Given the description of an element on the screen output the (x, y) to click on. 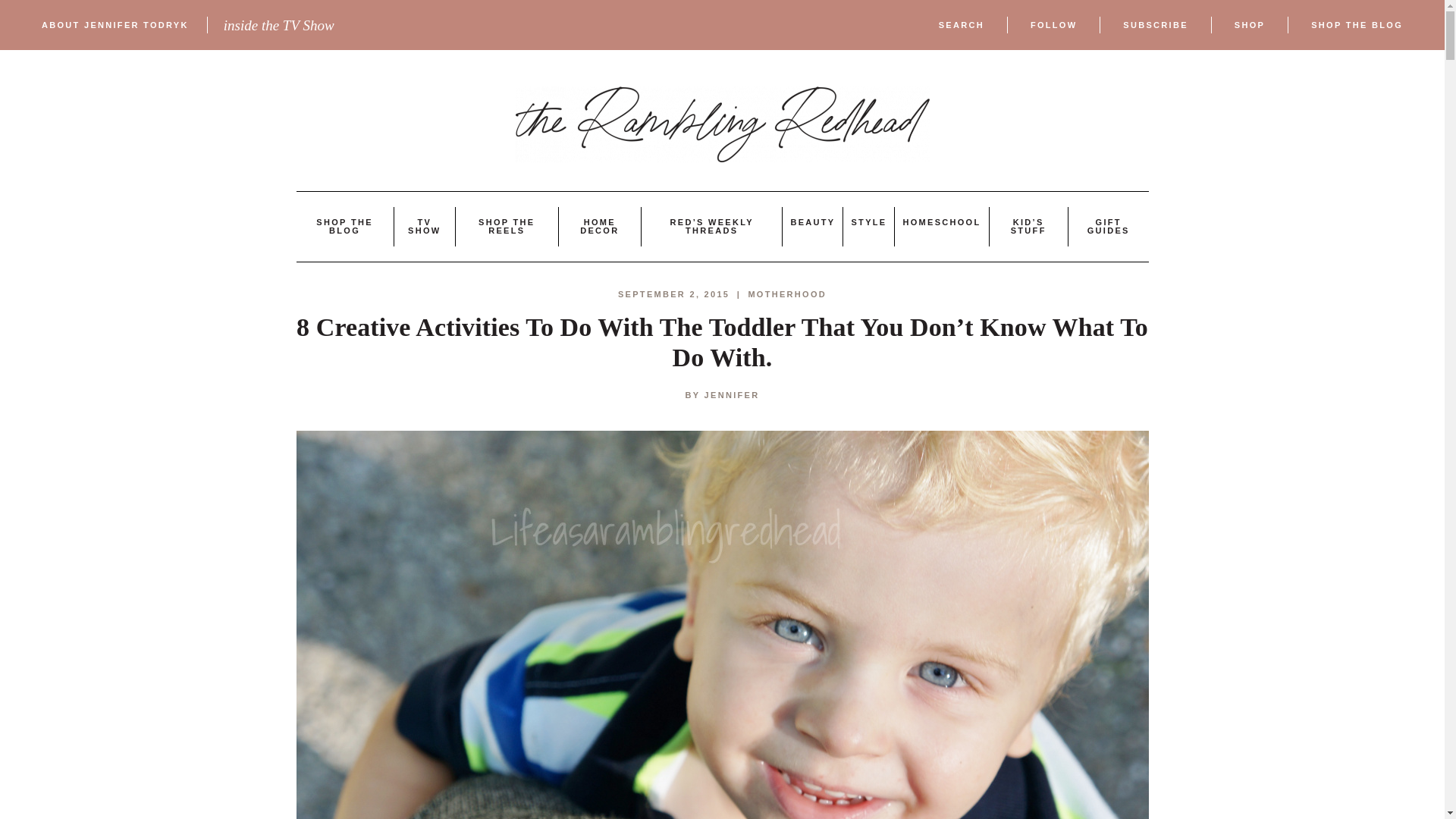
STYLE (868, 221)
TV SHOW (424, 226)
SEARCH (961, 25)
MOTHERHOOD (787, 293)
HOMESCHOOL (940, 221)
SUBSCRIBE (1155, 25)
SHOP THE BLOG (1357, 25)
BEAUTY (812, 221)
inside the TV Show (279, 25)
HOME DECOR (598, 226)
SHOP THE BLOG (343, 226)
SHOP (1249, 25)
SHOP THE REELS (506, 226)
GIFT GUIDES (1108, 226)
